Given the description of an element on the screen output the (x, y) to click on. 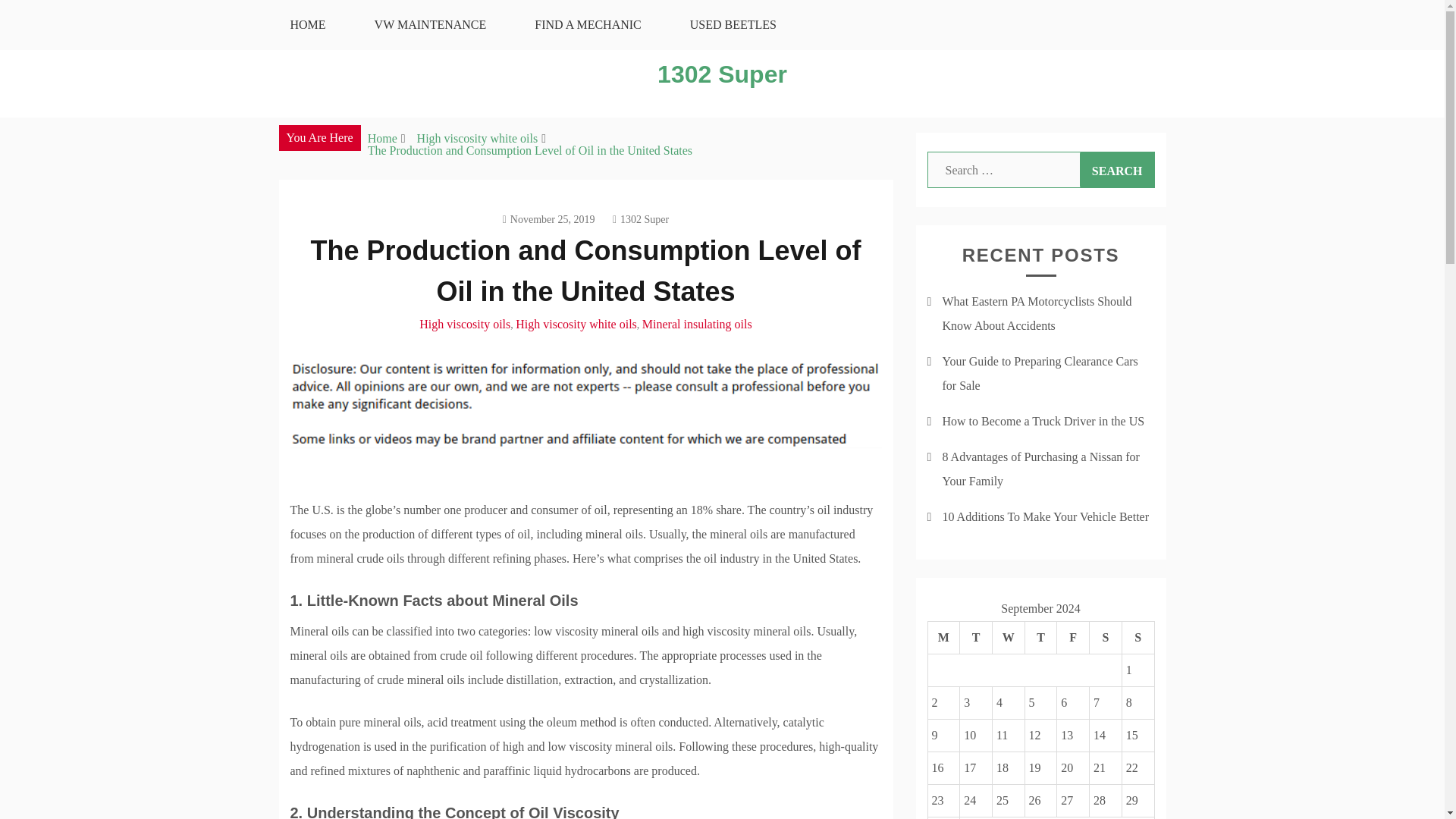
Wednesday (1008, 637)
What Eastern PA Motorcyclists Should Know About Accidents (1036, 313)
Saturday (1105, 637)
Monday (943, 637)
High viscosity oils (465, 323)
HOME (306, 24)
FIND A MECHANIC (587, 24)
Search (1117, 169)
Friday (1073, 637)
Search (1117, 169)
